Given the description of an element on the screen output the (x, y) to click on. 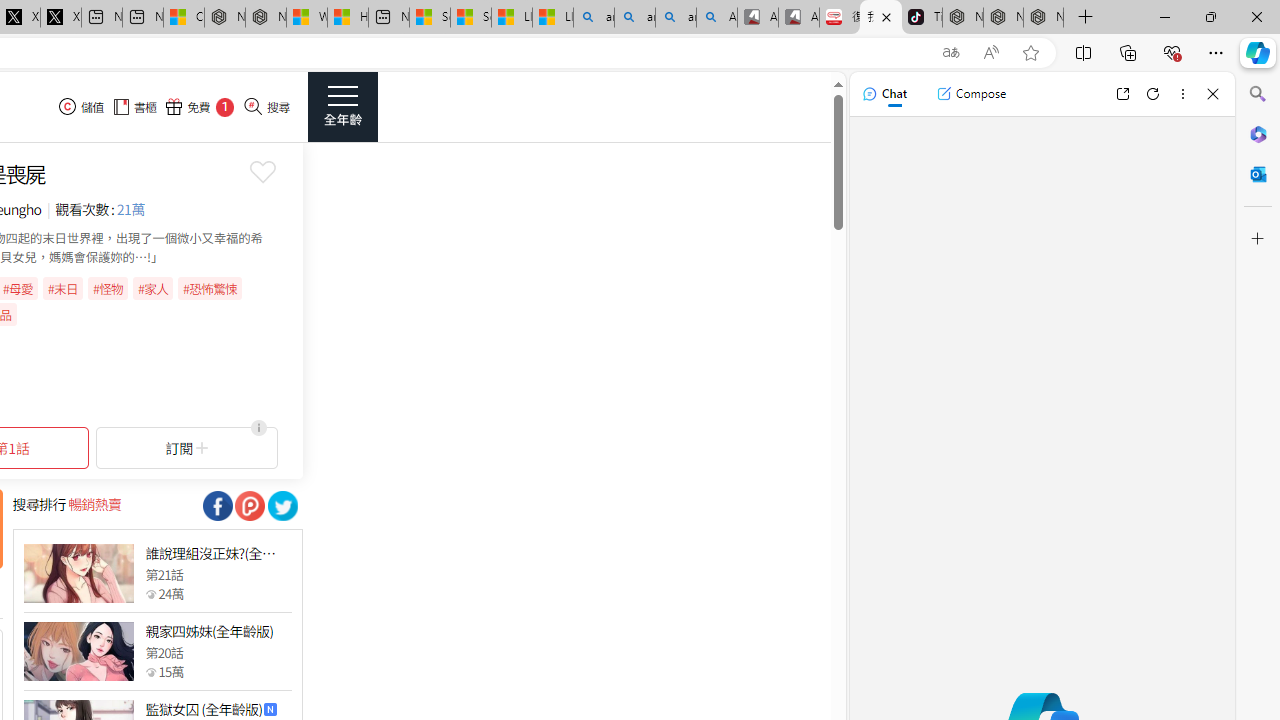
Customize (1258, 239)
Microsoft 365 (1258, 133)
Chat (884, 93)
Show translate options (950, 53)
Minimize (1164, 16)
amazon - Search Images (675, 17)
Copilot (Ctrl+Shift+.) (1258, 52)
Nordace - Siena Pro 15 Essential Set (1043, 17)
New Tab (1085, 17)
Restore (1210, 16)
TikTok (922, 17)
